Given the description of an element on the screen output the (x, y) to click on. 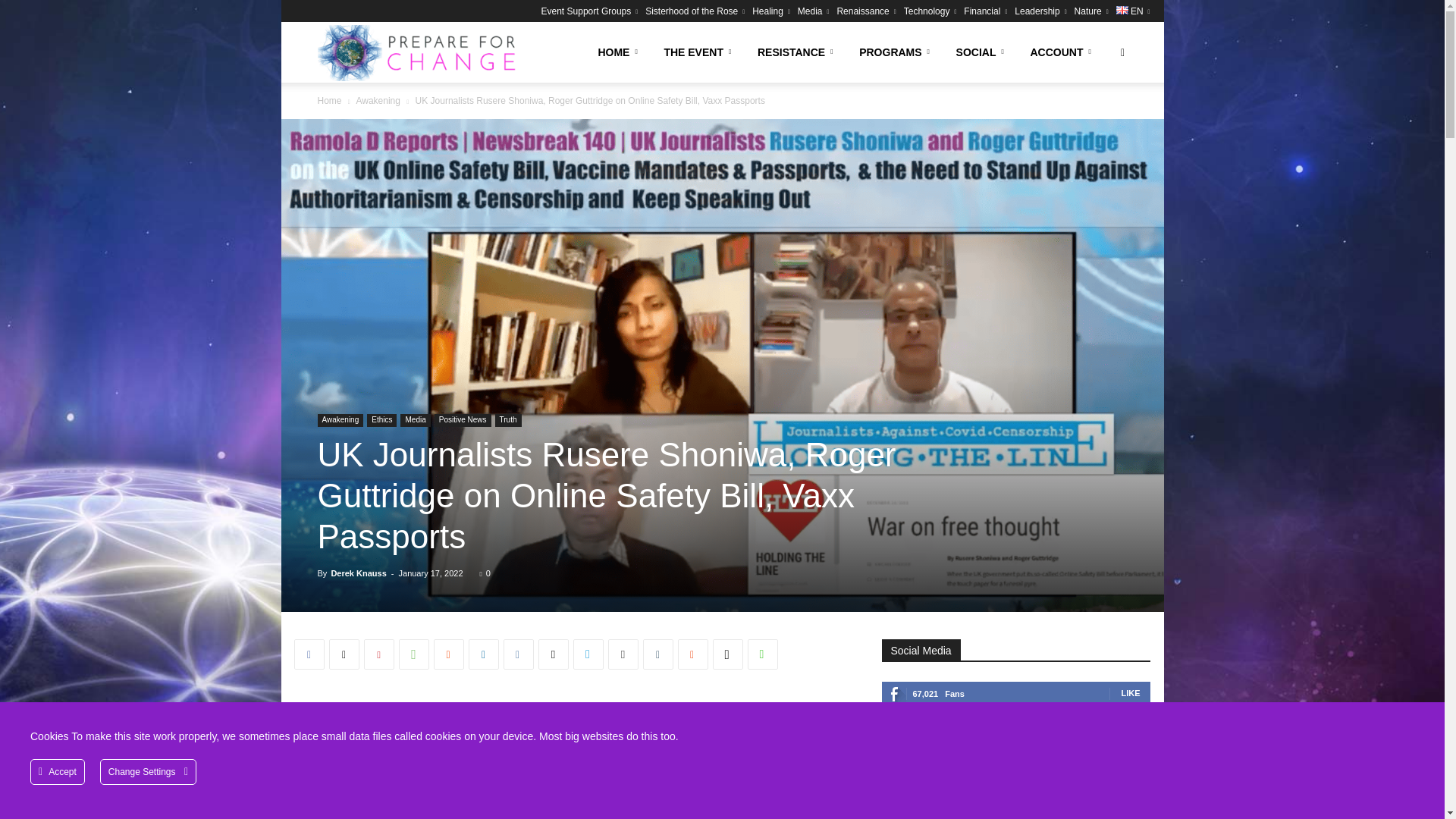
VK (518, 654)
Facebook (309, 654)
Email (553, 654)
Linkedin (483, 654)
View all posts in Awakening (377, 100)
ReddIt (448, 654)
Telegram (588, 654)
WhatsApp (413, 654)
Twitter (344, 654)
Pinterest (379, 654)
